Given the description of an element on the screen output the (x, y) to click on. 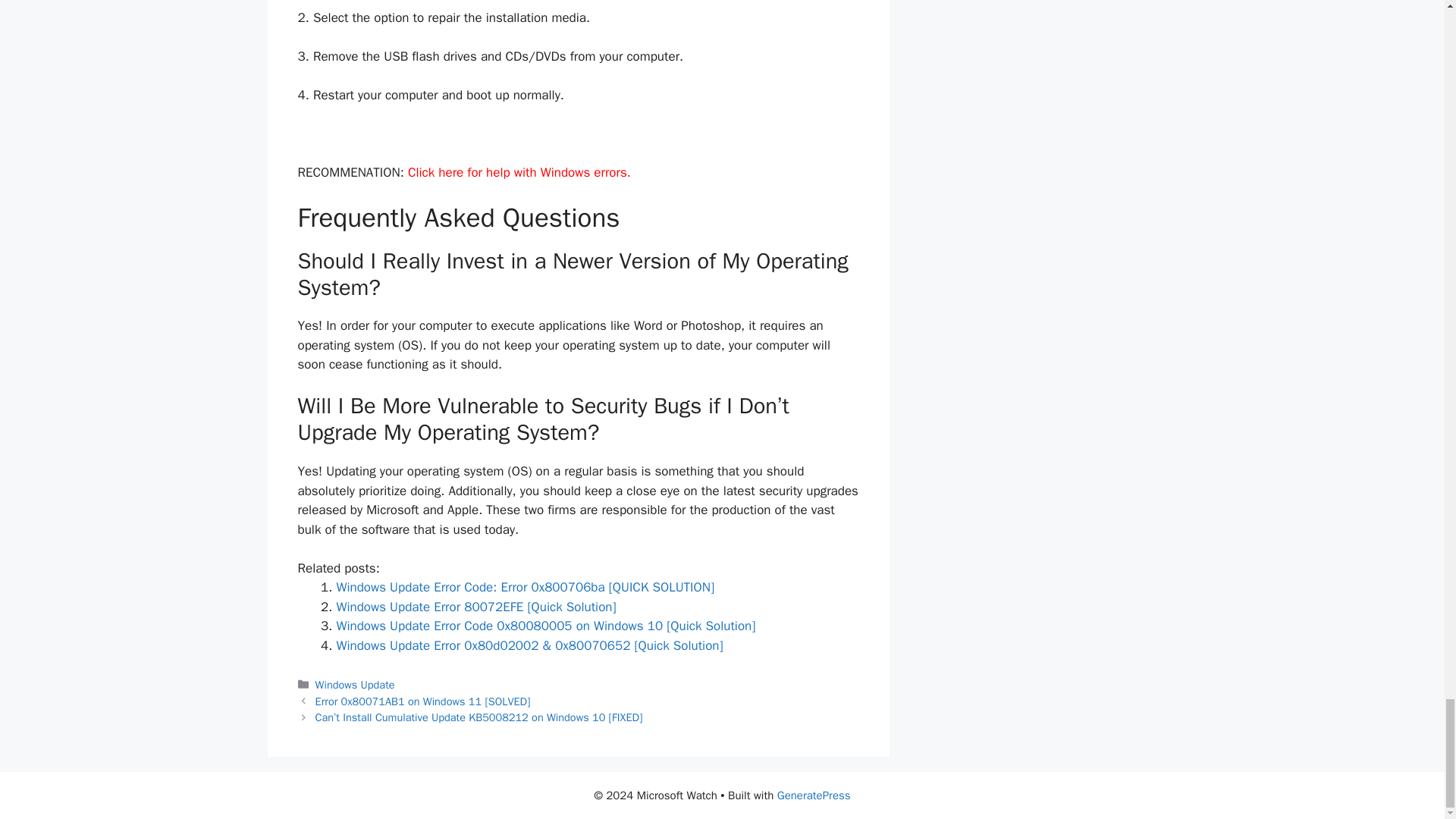
Click here for help with Windows errors. (518, 172)
Windows Update (354, 684)
